Given the description of an element on the screen output the (x, y) to click on. 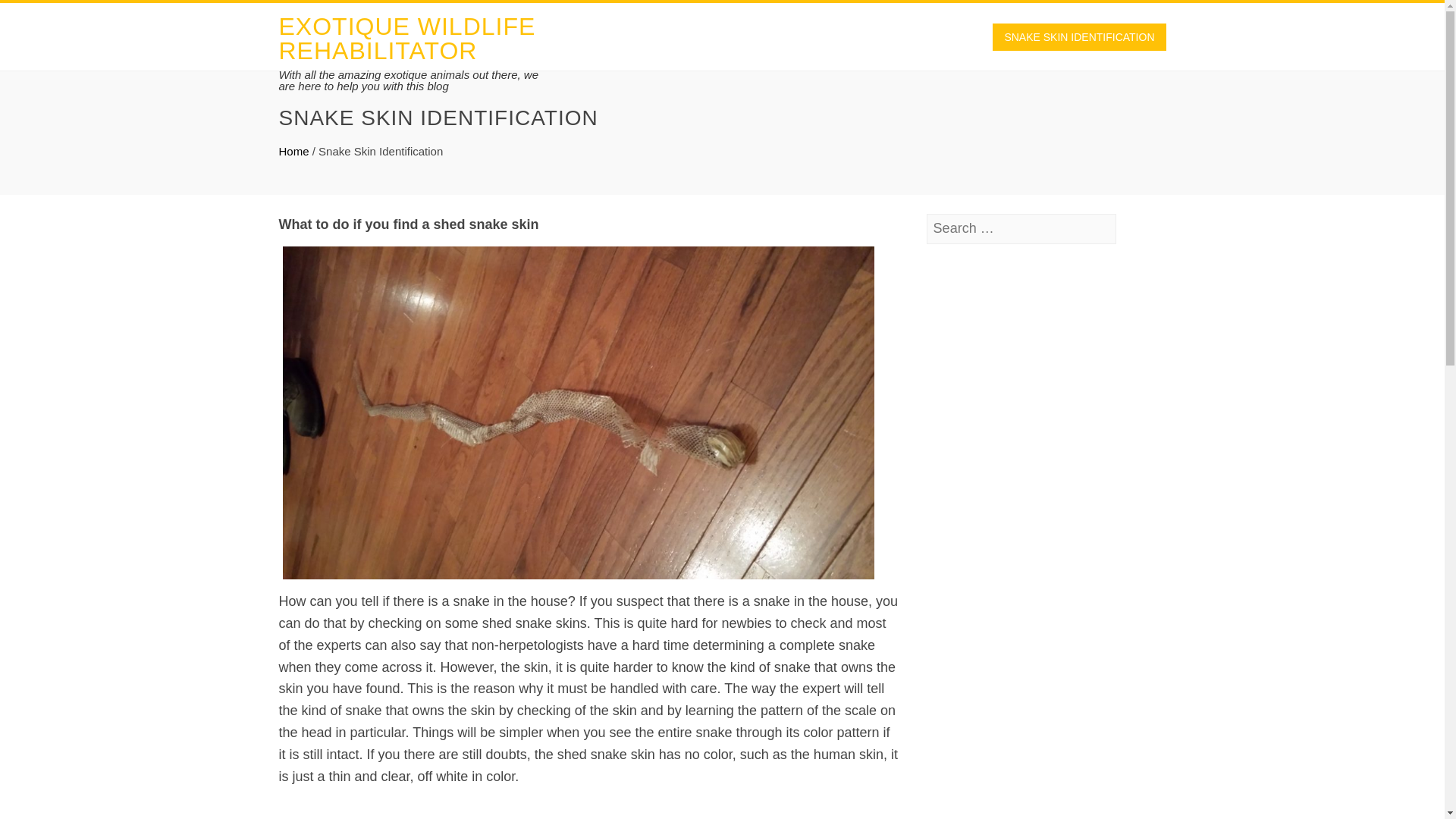
SNAKE SKIN IDENTIFICATION (1079, 36)
EXOTIQUE WILDLIFE REHABILITATOR (407, 38)
Home (293, 151)
Search (37, 15)
